Given the description of an element on the screen output the (x, y) to click on. 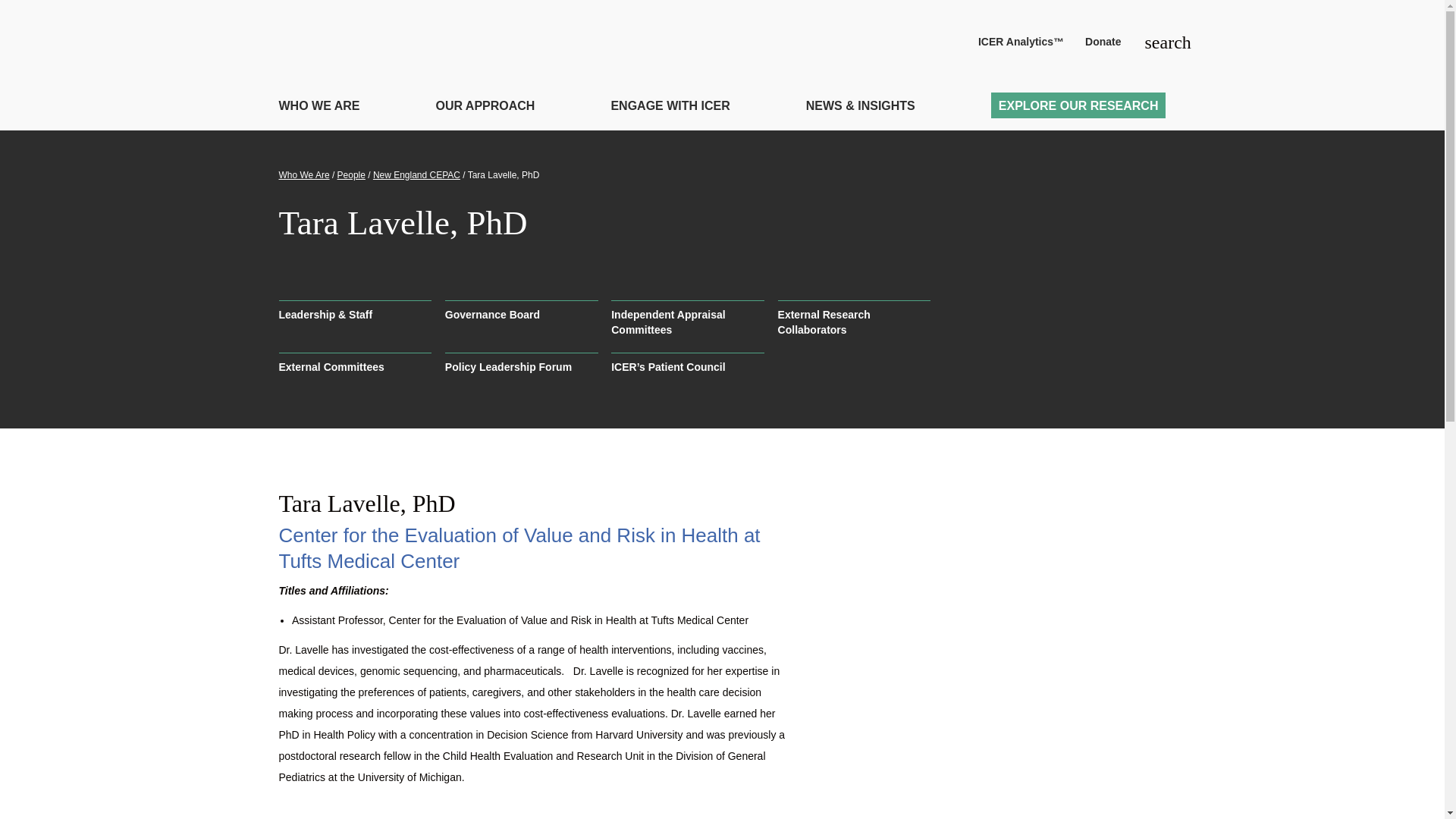
Donate (1102, 42)
OUR APPROACH (484, 107)
ENGAGE WITH ICER (669, 107)
Go to People. (351, 174)
New England CEPAC (416, 174)
Go to the New England CEPAC Program Type archives. (416, 174)
WHO WE ARE (319, 107)
People (351, 174)
Search (1153, 42)
Who We Are (304, 174)
Go to Who We Are. (304, 174)
EXPLORE OUR RESEARCH (1078, 104)
